Given the description of an element on the screen output the (x, y) to click on. 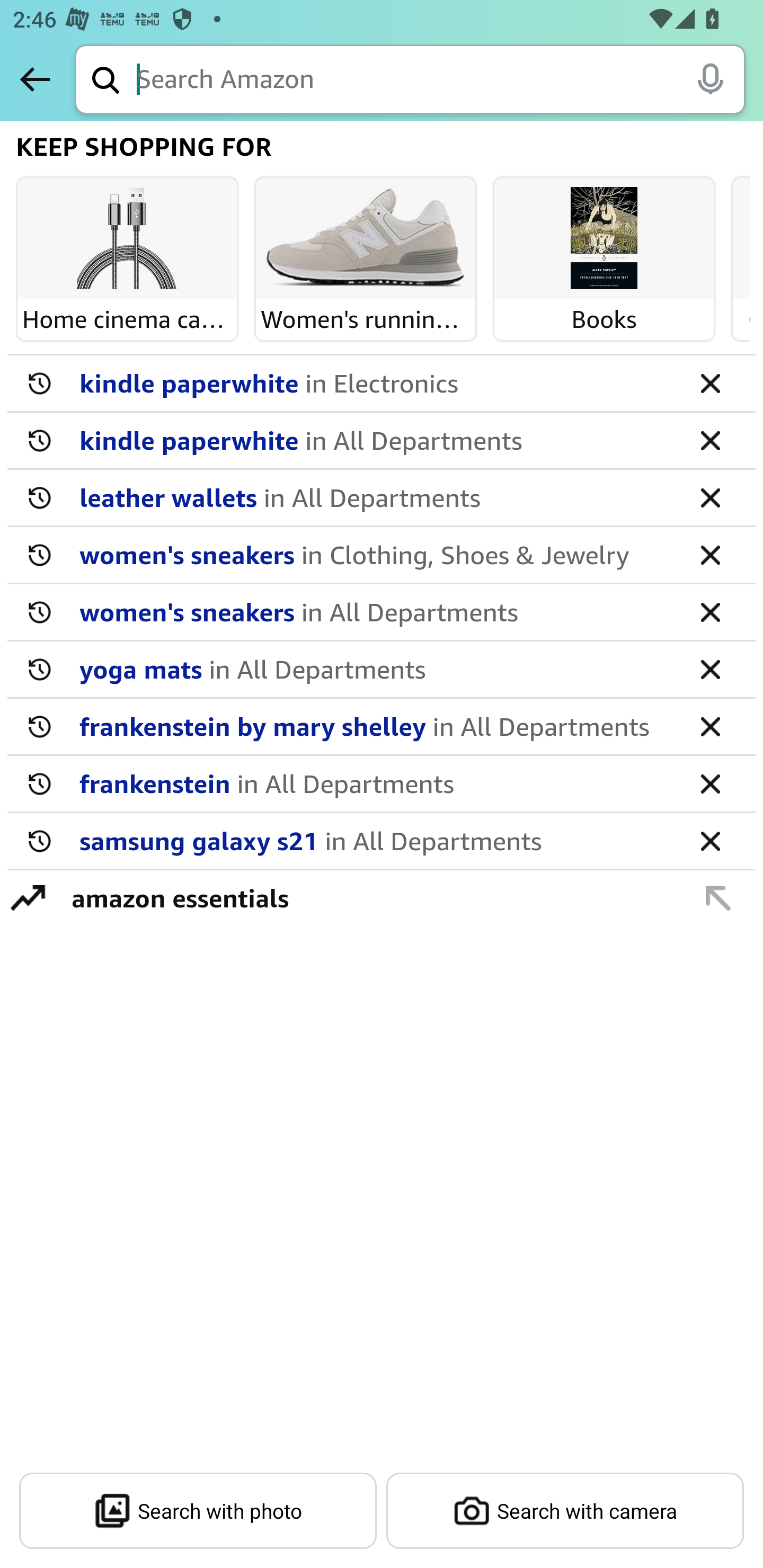
Search Amazon (440, 80)
Back (35, 78)
Alexa (710, 78)
Home cinema cables (126, 238)
Women's running shoes (365, 238)
Books (603, 238)
kindle paperwhite delete (381, 383)
kindle paperwhite (374, 382)
delete (710, 382)
kindle paperwhite delete (381, 440)
kindle paperwhite (374, 439)
delete (710, 439)
leather wallets delete (381, 497)
leather wallets (374, 496)
delete (710, 496)
women's sneakers delete (381, 554)
women's sneakers (374, 554)
delete (710, 554)
women's sneakers delete (381, 612)
women's sneakers (374, 611)
delete (710, 611)
yoga mats delete (381, 669)
yoga mats (374, 668)
delete (710, 668)
frankenstein by mary shelley delete (381, 726)
frankenstein by mary shelley (374, 725)
delete (710, 725)
frankenstein delete (381, 783)
frankenstein (374, 783)
delete (710, 783)
samsung galaxy s21 delete (381, 841)
samsung galaxy s21 (374, 840)
delete (710, 840)
amazon essentials append suggestion (381, 897)
amazon essentials (370, 897)
append suggestion (718, 897)
Search with photo (197, 1510)
Search with camera (564, 1510)
